Given the description of an element on the screen output the (x, y) to click on. 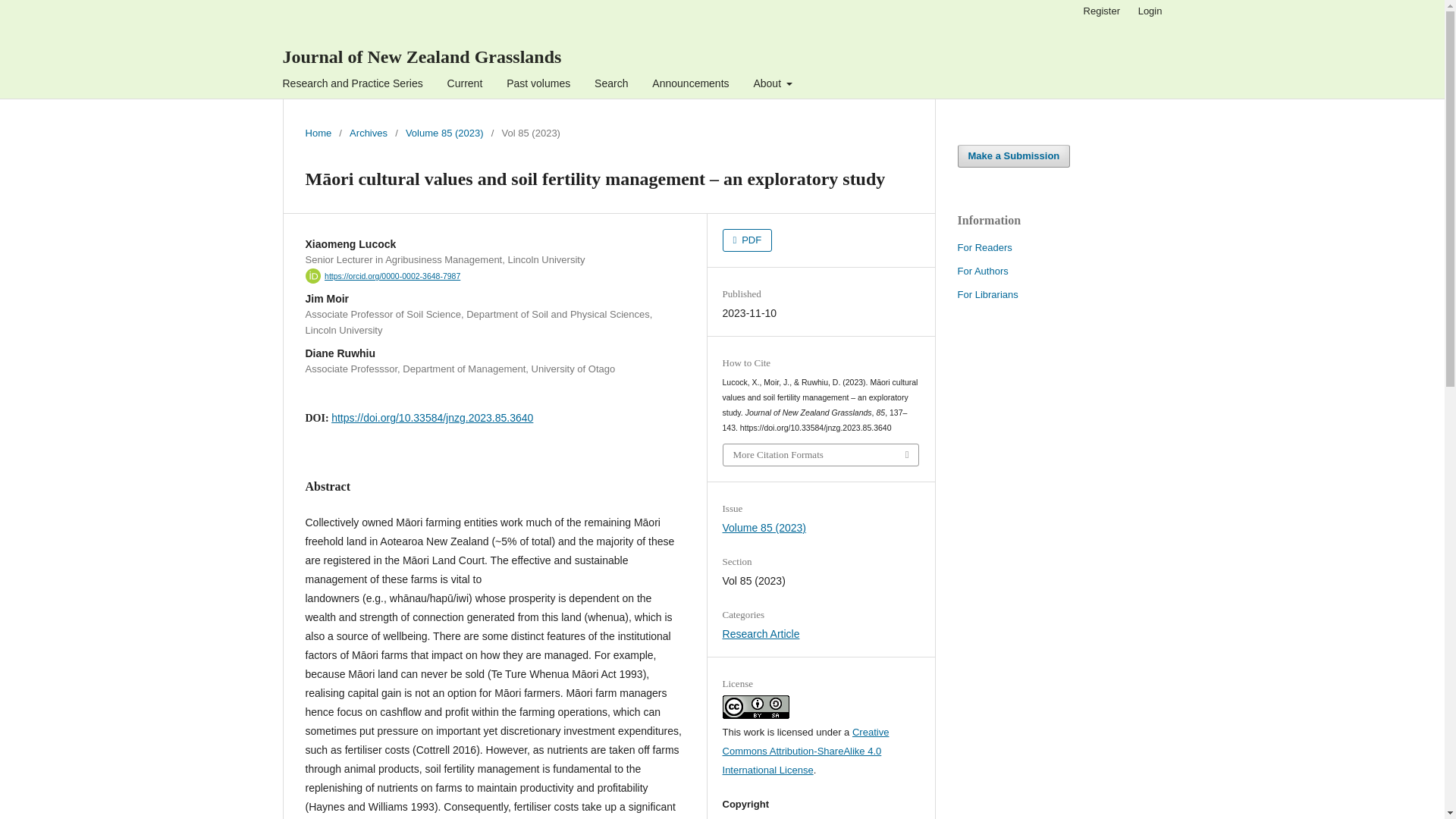
Search (611, 85)
Archives (368, 133)
Announcements (689, 85)
Journal of New Zealand Grasslands (421, 56)
Current (464, 85)
Home (317, 133)
Register (1100, 11)
More Citation Formats (820, 455)
Past volumes (537, 85)
Login (1150, 11)
About (772, 85)
PDF (747, 240)
Research and Practice Series (353, 85)
